Given the description of an element on the screen output the (x, y) to click on. 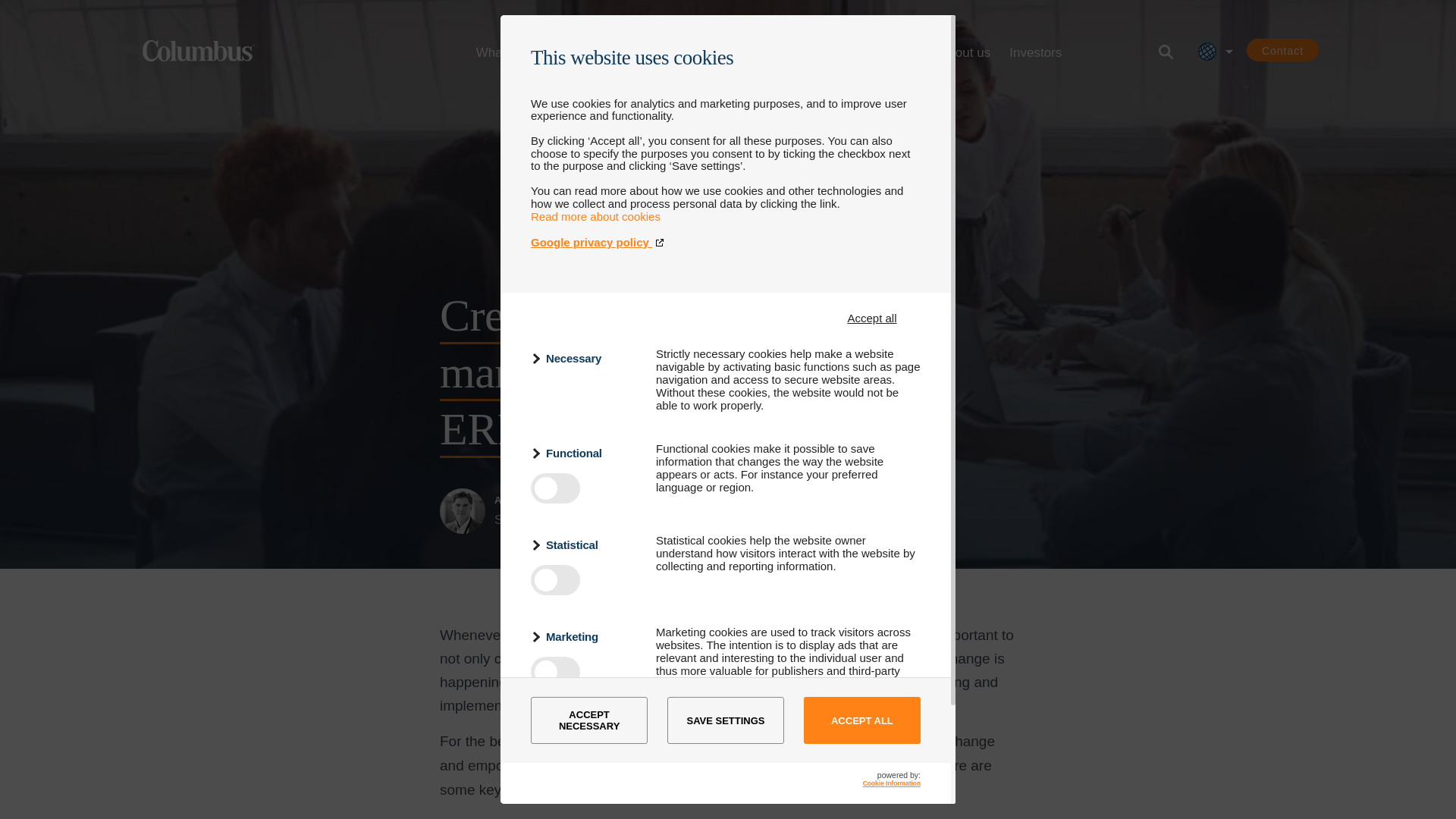
Necessary (584, 358)
Accept all (872, 318)
Statistical (584, 544)
Read more about cookies (596, 215)
Marketing (584, 636)
Google privacy policy (725, 242)
Functional (584, 453)
